Given the description of an element on the screen output the (x, y) to click on. 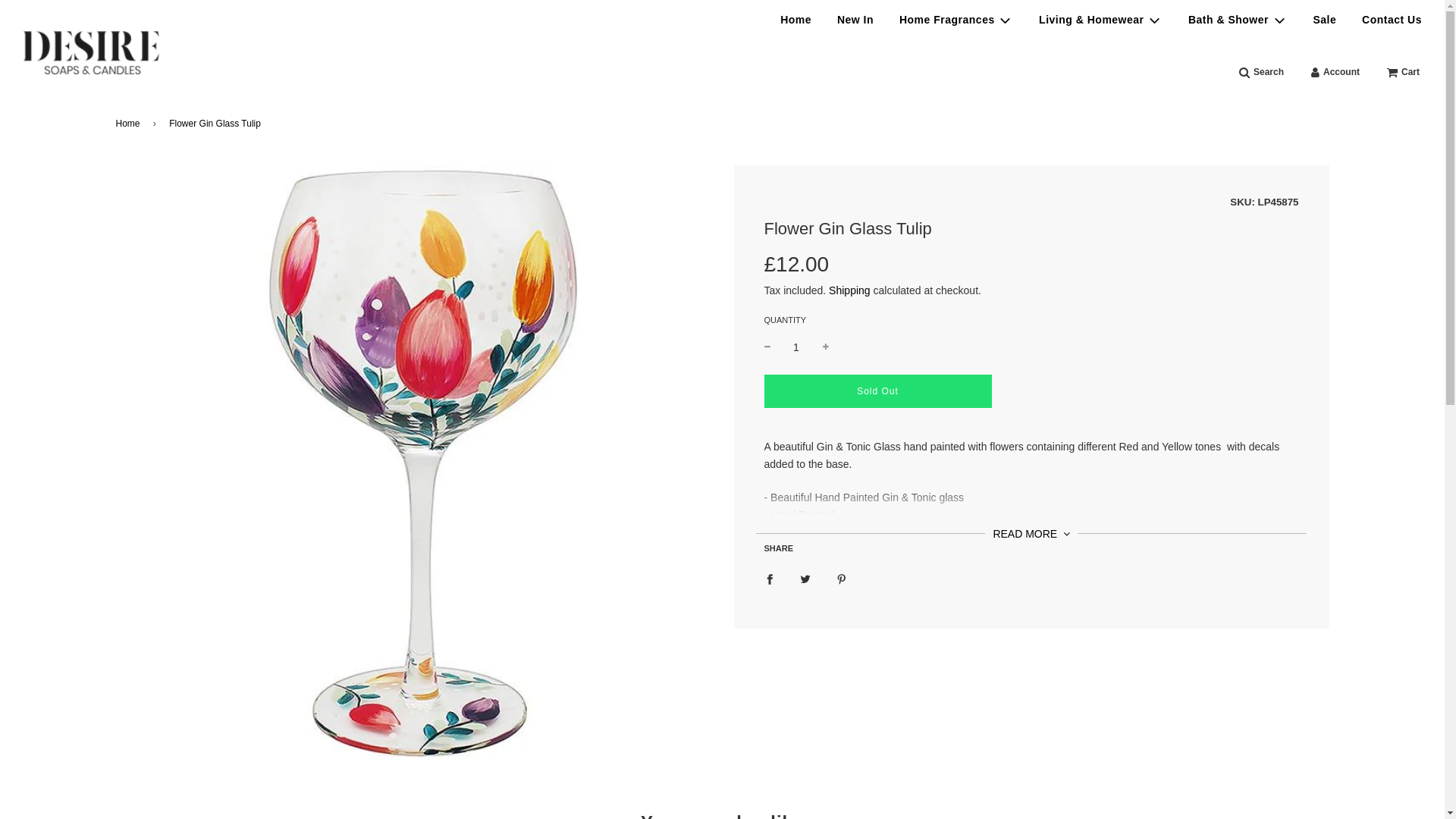
Back to the frontpage (129, 124)
Log in (1335, 72)
1 (796, 346)
